Given the description of an element on the screen output the (x, y) to click on. 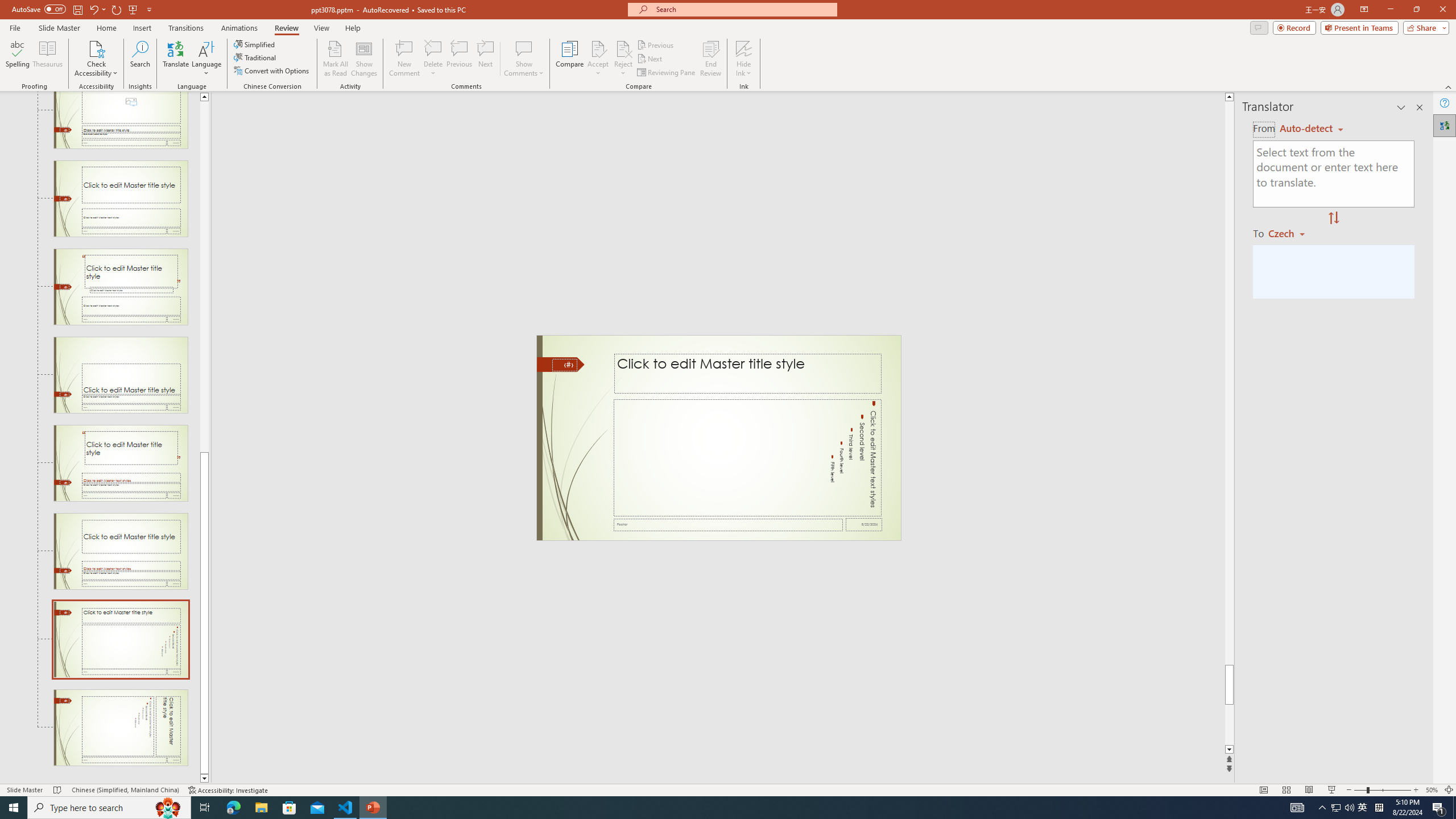
Slide Quote with Caption Layout: used by no slides (120, 286)
TextBox (746, 457)
English (1310, 128)
